Given the description of an element on the screen output the (x, y) to click on. 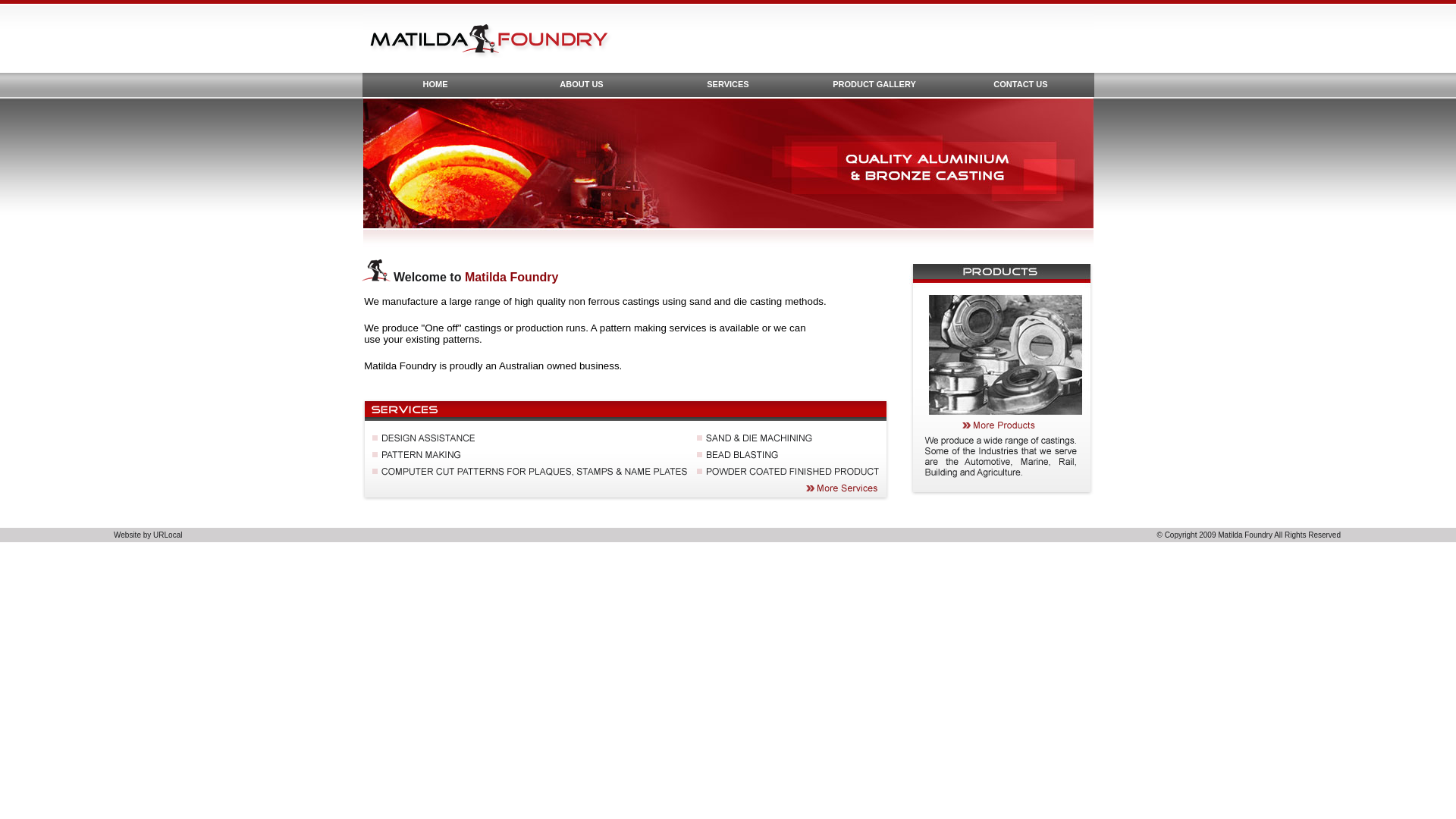
HOME Element type: text (435, 84)
PRODUCT GALLERY Element type: text (873, 84)
ABOUT US Element type: text (581, 84)
SERVICES Element type: text (728, 84)
CONTACT US Element type: text (1020, 84)
Website by URLocal Element type: text (147, 534)
